Given the description of an element on the screen output the (x, y) to click on. 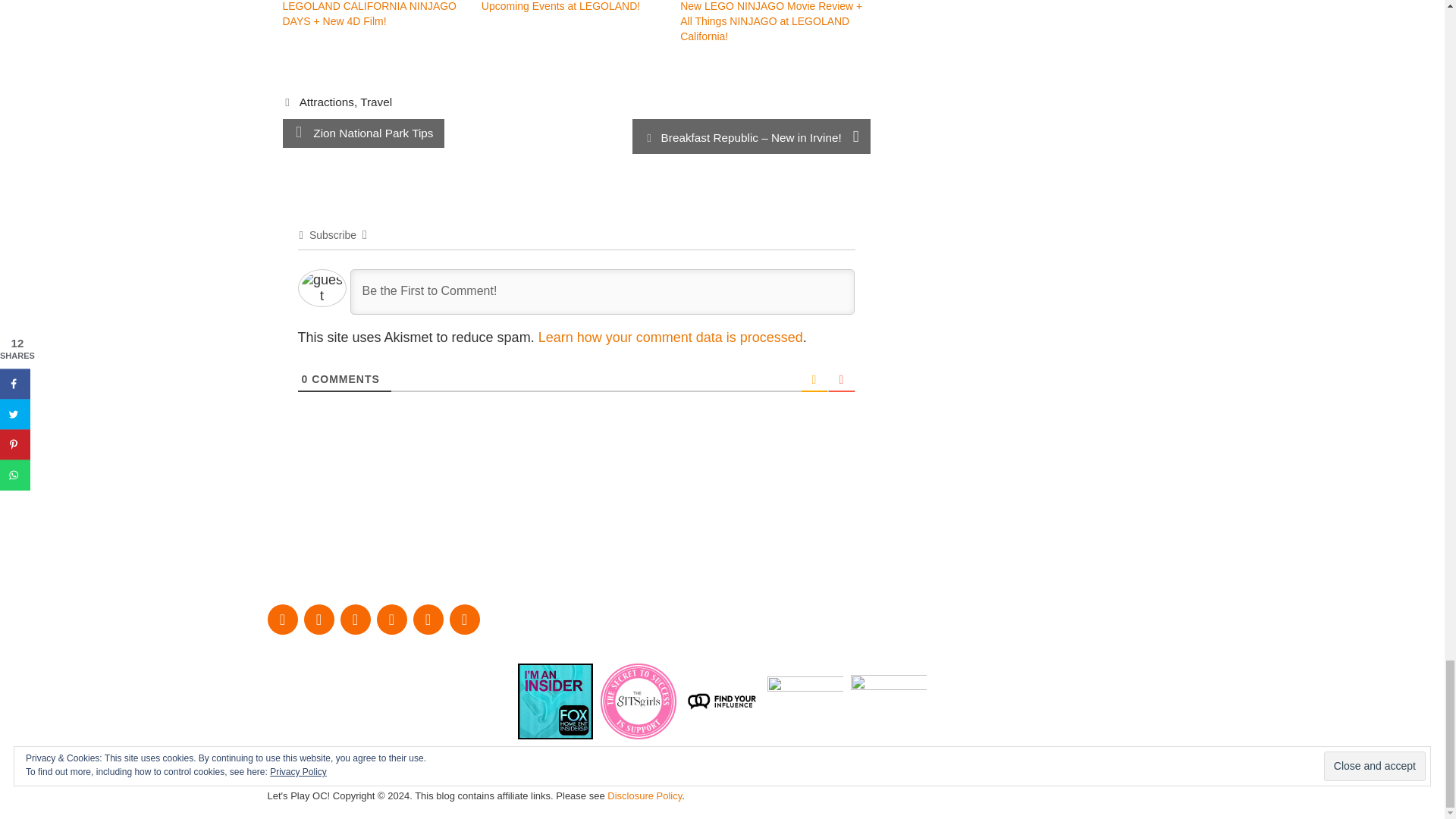
Attractions (326, 101)
Travel (375, 101)
Zion National Park Tips (372, 132)
Upcoming Events at LEGOLAND! (560, 6)
